Given the description of an element on the screen output the (x, y) to click on. 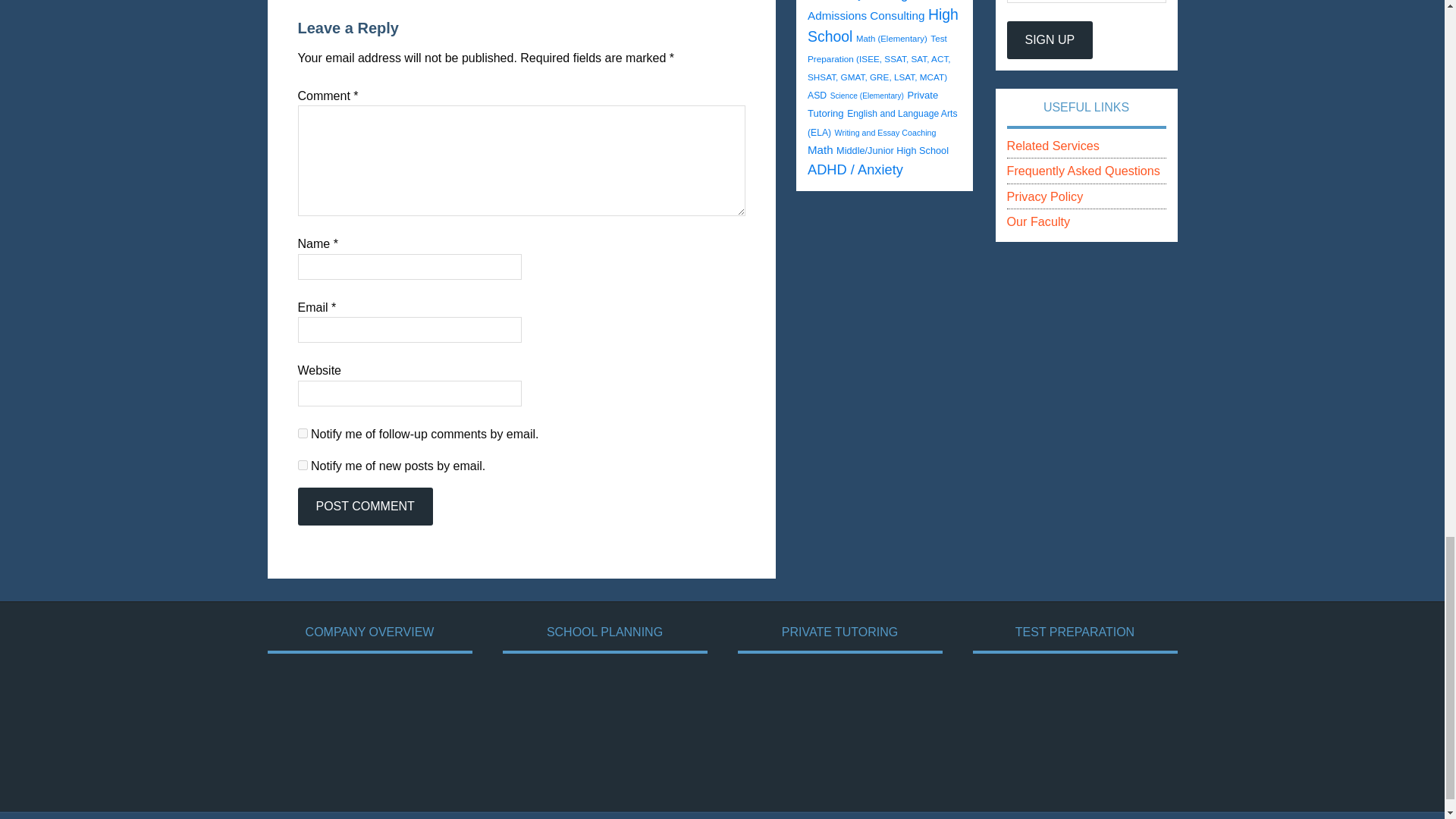
Post Comment (364, 506)
subscribe (302, 433)
Sign up (1050, 39)
subscribe (302, 465)
